Given the description of an element on the screen output the (x, y) to click on. 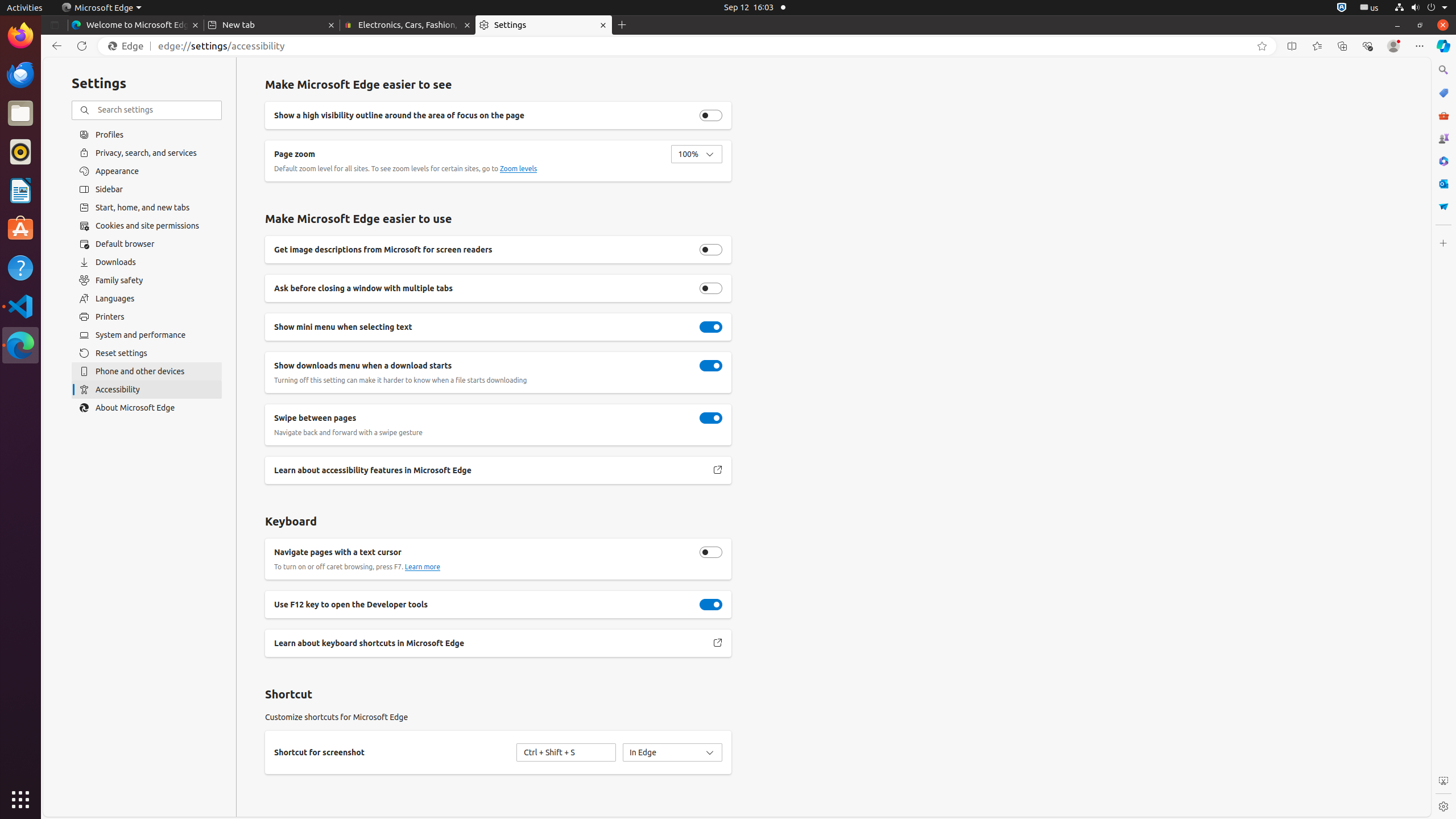
Phone and other devices Element type: tree-item (146, 371)
Learn more about caret browsing. Element type: link (422, 567)
Appearance Element type: tree-item (146, 171)
System and performance Element type: tree-item (146, 334)
Microsoft Edge Element type: menu (101, 7)
